Given the description of an element on the screen output the (x, y) to click on. 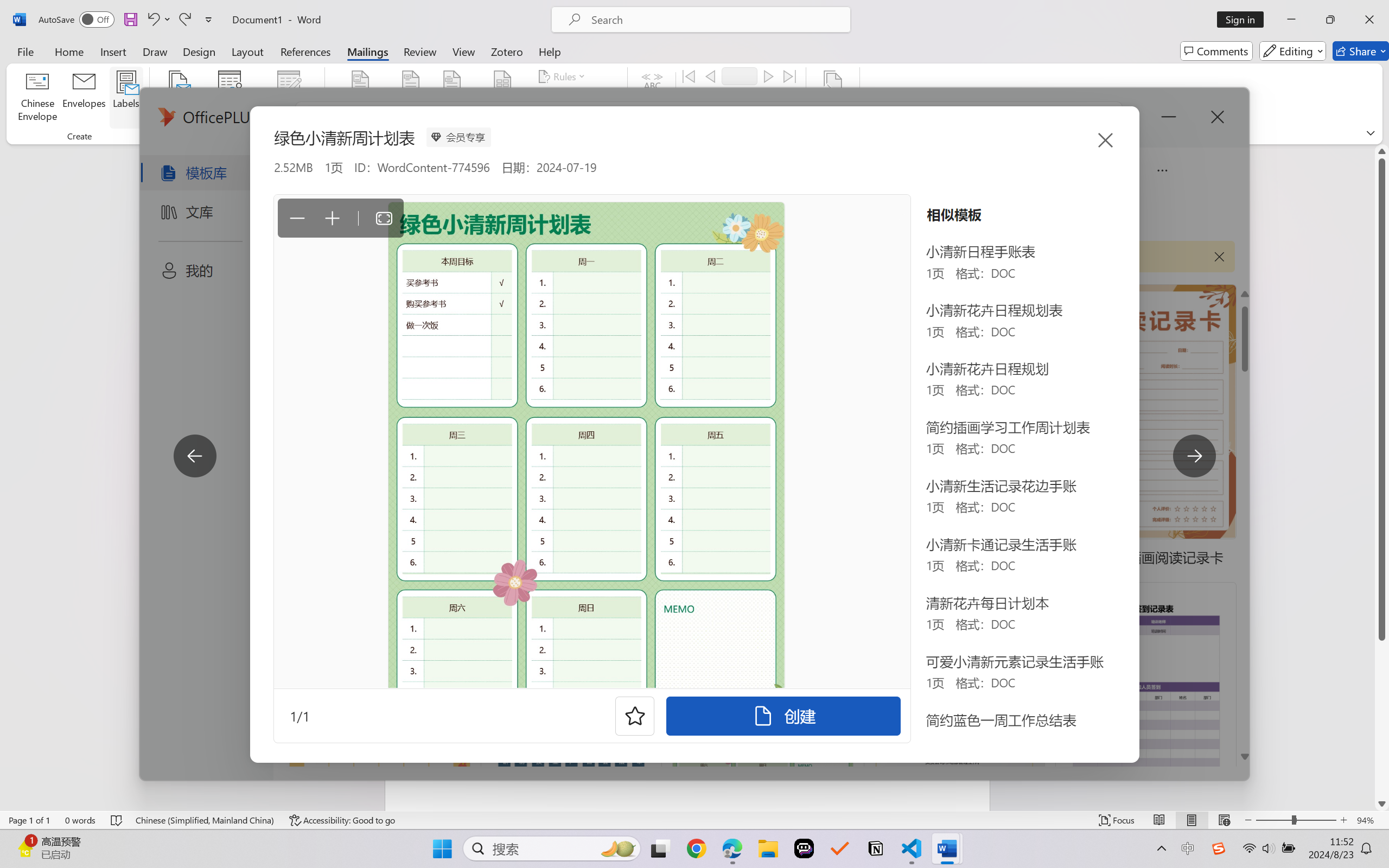
Tell me more (197, 243)
Undo Apply Quick Style Set (152, 19)
Greeting Line... (451, 97)
Page down (1382, 718)
Select Recipients (229, 97)
Insert Merge Field (502, 97)
Insert Merge Field (502, 81)
